Given the description of an element on the screen output the (x, y) to click on. 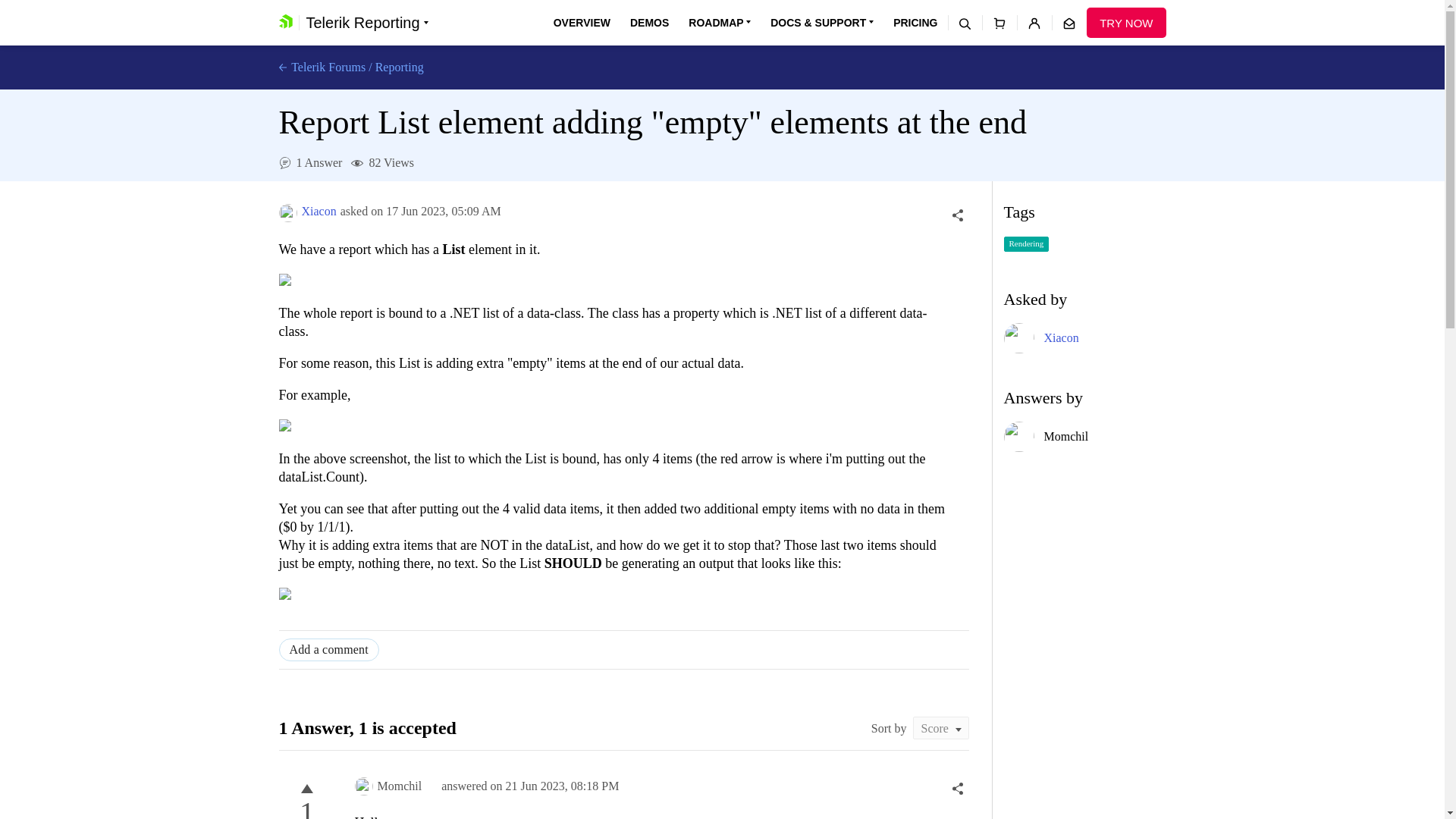
ROADMAP (719, 22)
SKIP NAVIGATION (339, 7)
Rendering (1026, 243)
OVERVIEW (581, 22)
Telerik Reporting (367, 22)
This answer is helpful. (306, 788)
